Given the description of an element on the screen output the (x, y) to click on. 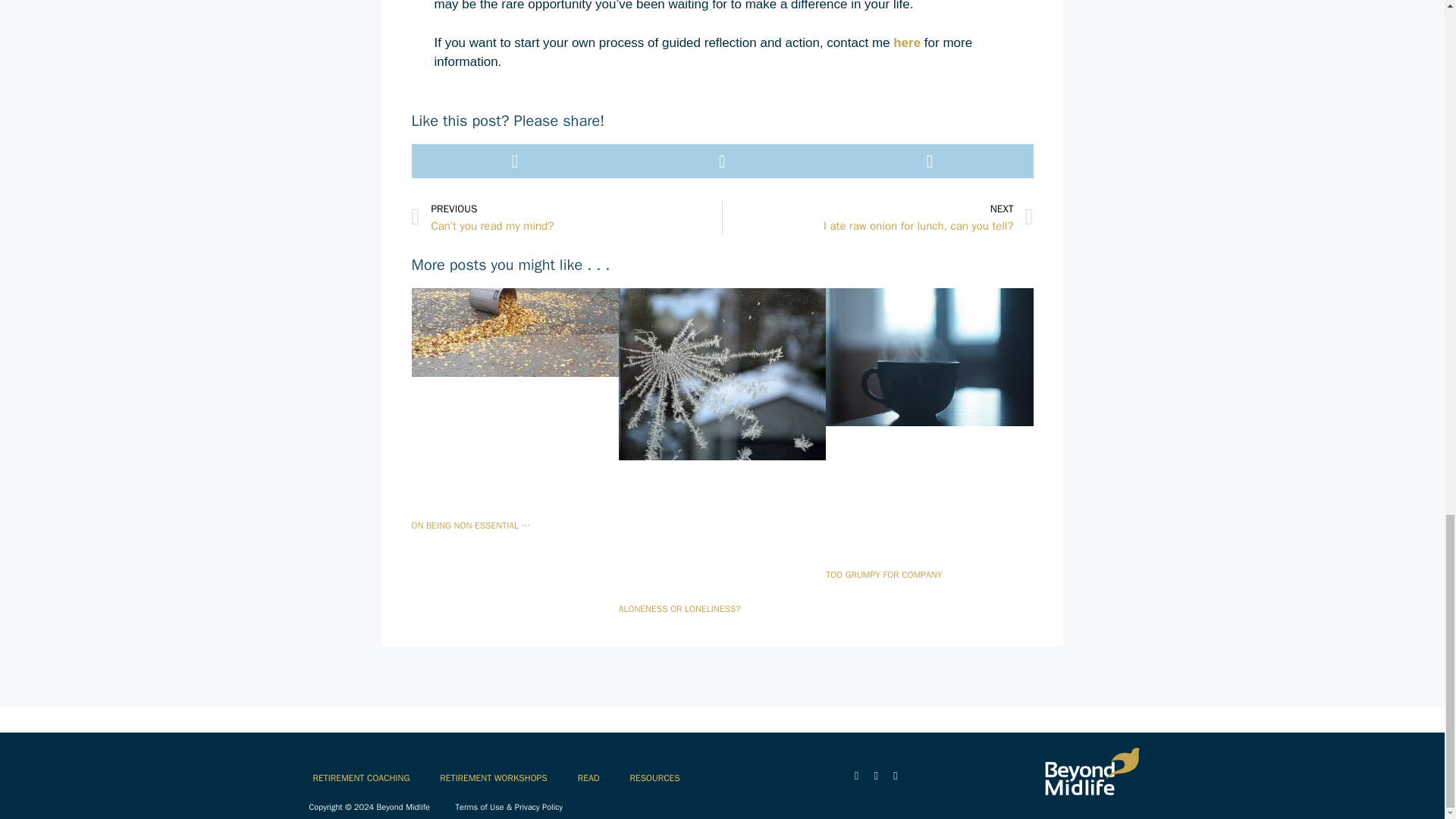
RETIREMENT COACHING (361, 777)
TOO GRUMPY FOR COMPANY (877, 217)
here (883, 574)
ALONENESS OR LONELINESS? (906, 42)
